Given the description of an element on the screen output the (x, y) to click on. 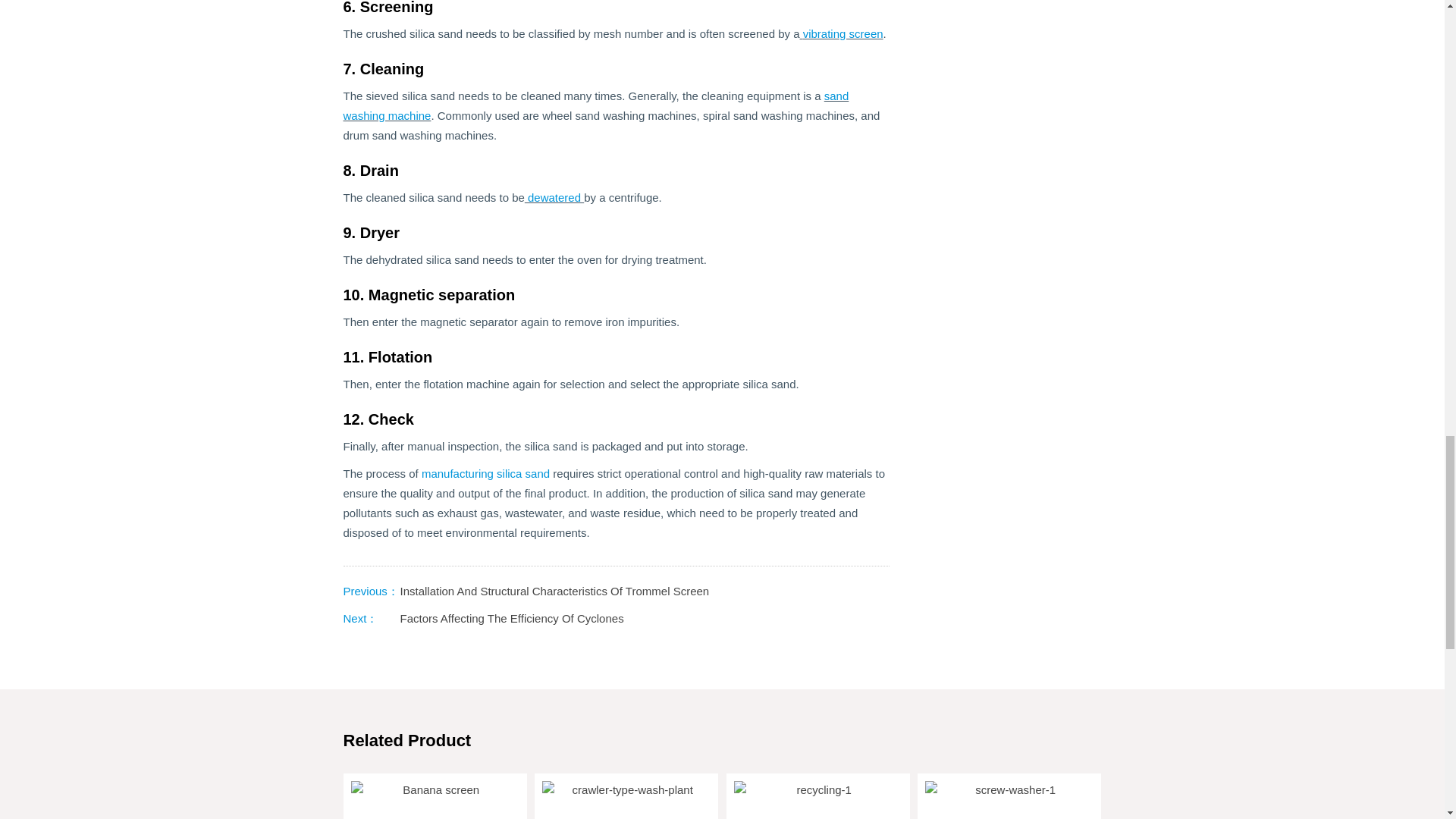
sand washing machine (595, 105)
Factors Affecting The Efficiency Of Cyclones (512, 617)
manufacturing silica sand (486, 472)
vibrating screen (843, 33)
dewatered (553, 196)
